Given the description of an element on the screen output the (x, y) to click on. 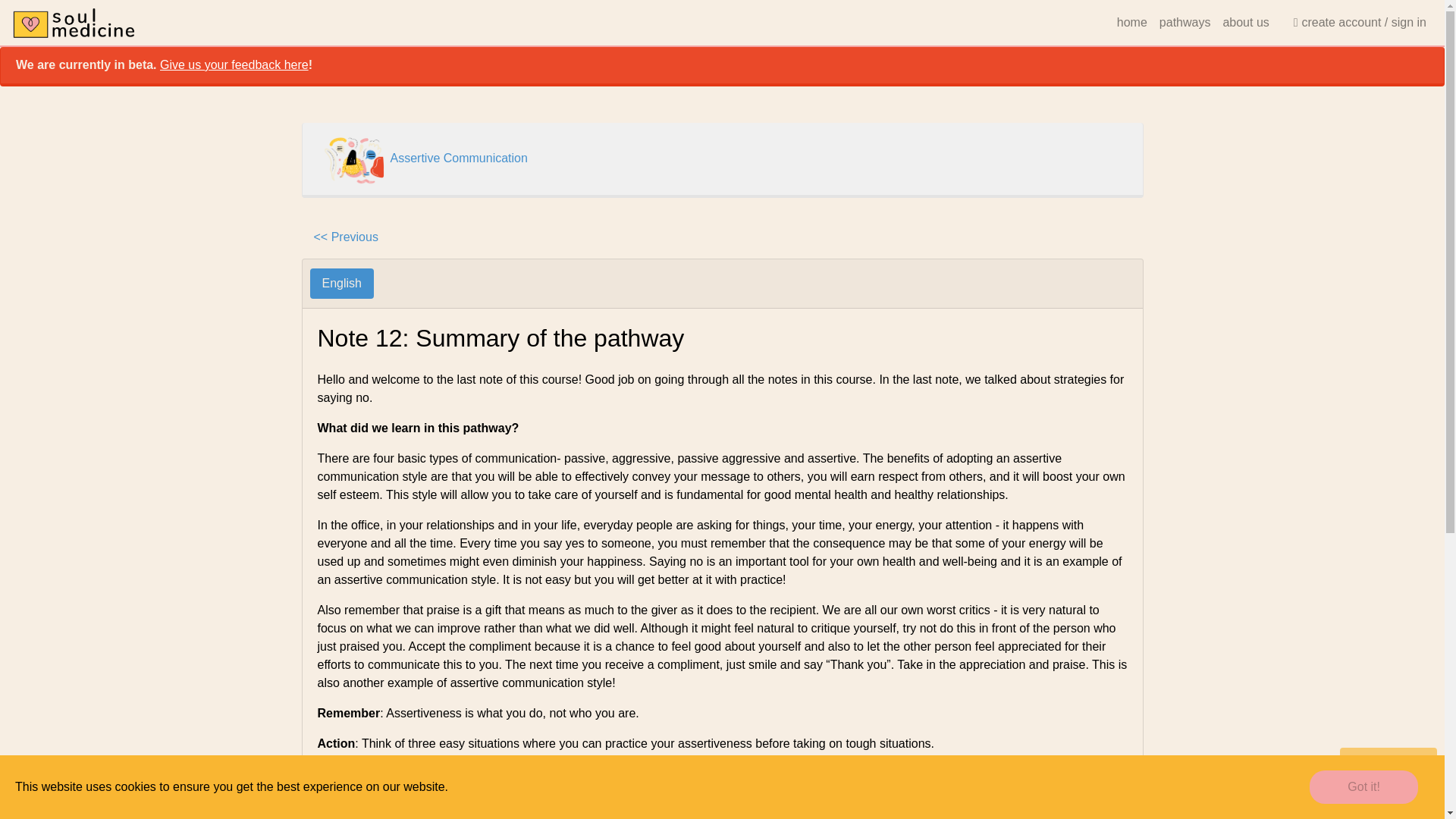
English (340, 283)
about us (1245, 22)
Give us your feedback here (234, 64)
pathways (1185, 22)
Got it! (1363, 786)
LEAVE THIS SITE (1388, 760)
Assertive Communication (458, 158)
home (1131, 22)
